Given the description of an element on the screen output the (x, y) to click on. 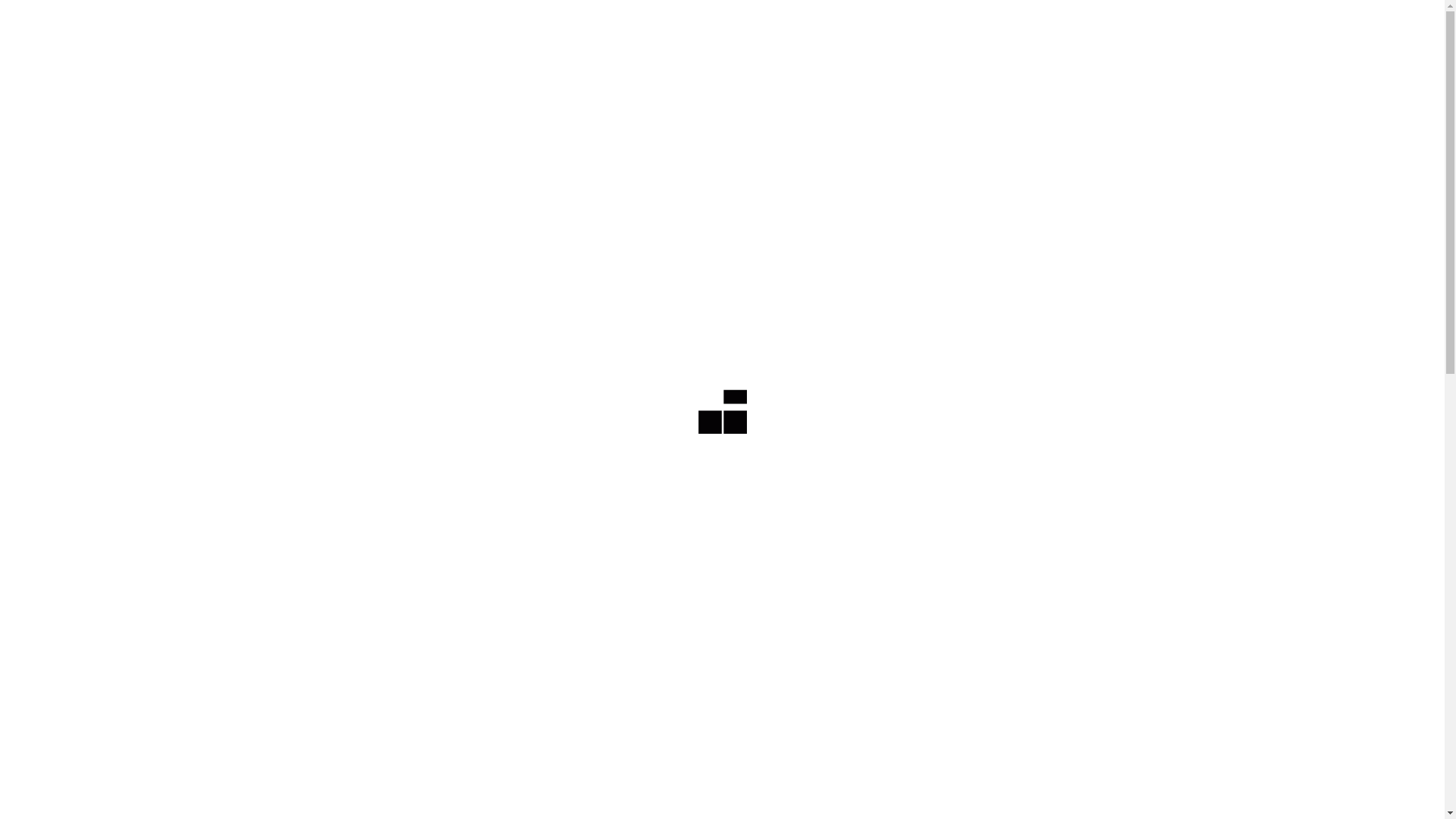
CONTACT Element type: text (1253, 81)
BLOG Element type: text (1186, 81)
  Element type: text (1407, 81)
accounts@hcsvic.com.au Element type: text (1363, 21)
SERVICES Element type: text (409, 424)
HOME Element type: text (973, 81)
sales@hcsvic.com.au Element type: text (1233, 21)
GALLERY Element type: text (1120, 81)
1300 997 771 Element type: text (1120, 21)
SERVICES Element type: text (1042, 81)
HOME Element type: text (329, 424)
